Given the description of an element on the screen output the (x, y) to click on. 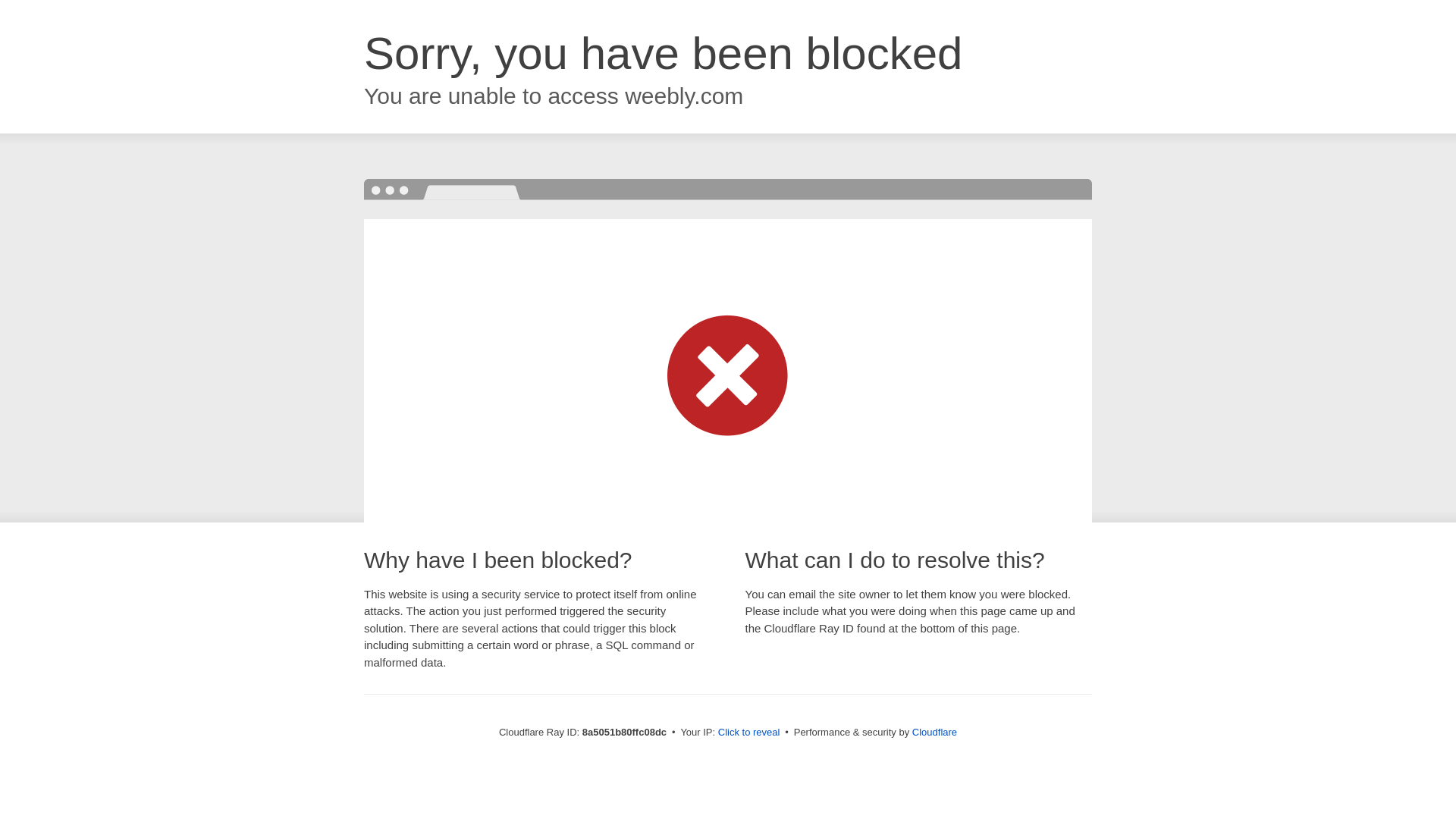
Click to reveal (748, 732)
Cloudflare (934, 731)
